Given the description of an element on the screen output the (x, y) to click on. 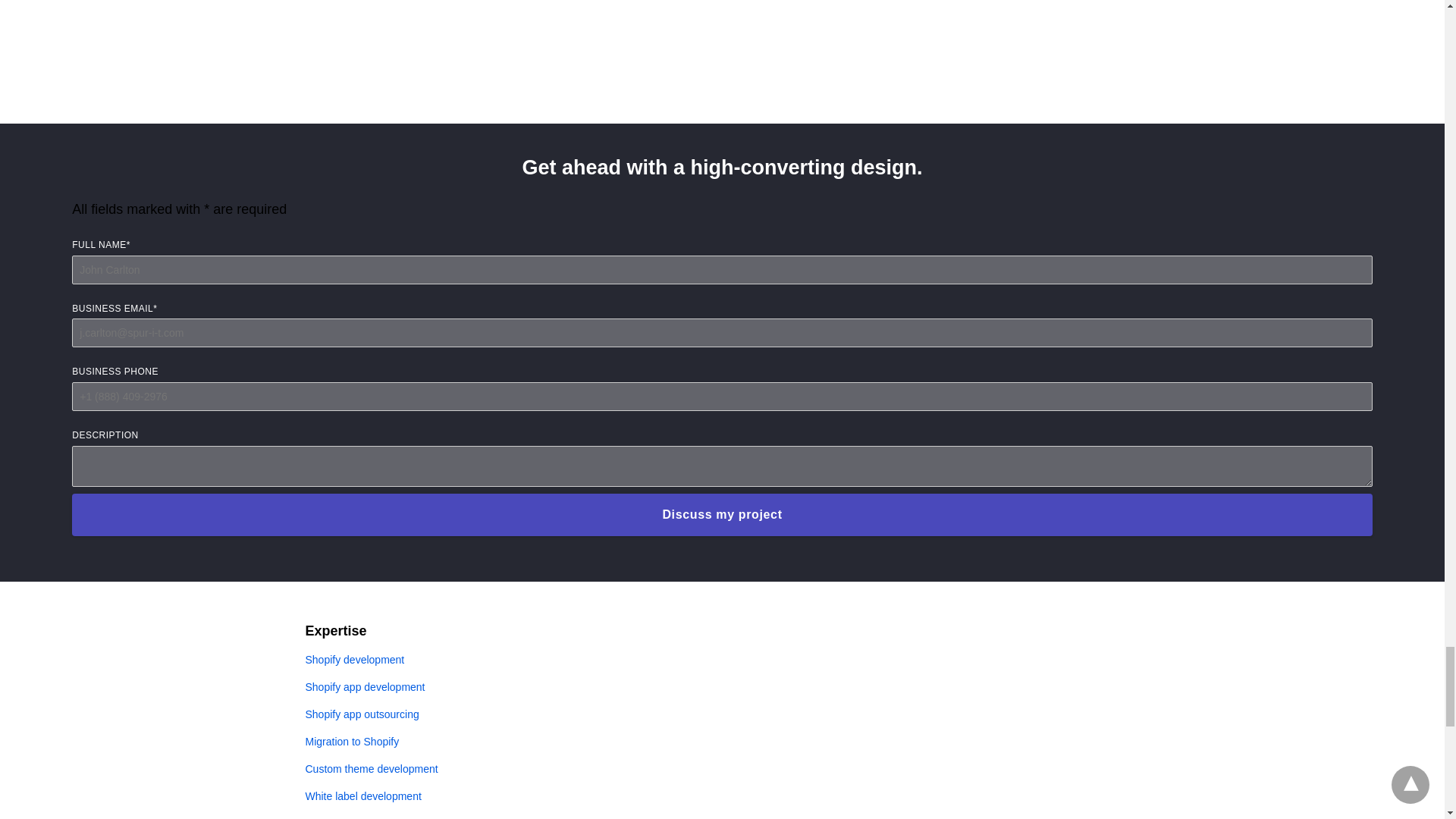
Shopify app outsourcing (361, 714)
Migration to Shopify (351, 741)
Shopify development (354, 659)
Shopify app development (364, 686)
Headless development (358, 818)
Discuss my project (722, 514)
White label development (362, 796)
Custom theme development (371, 768)
Discuss my project (722, 514)
